Given the description of an element on the screen output the (x, y) to click on. 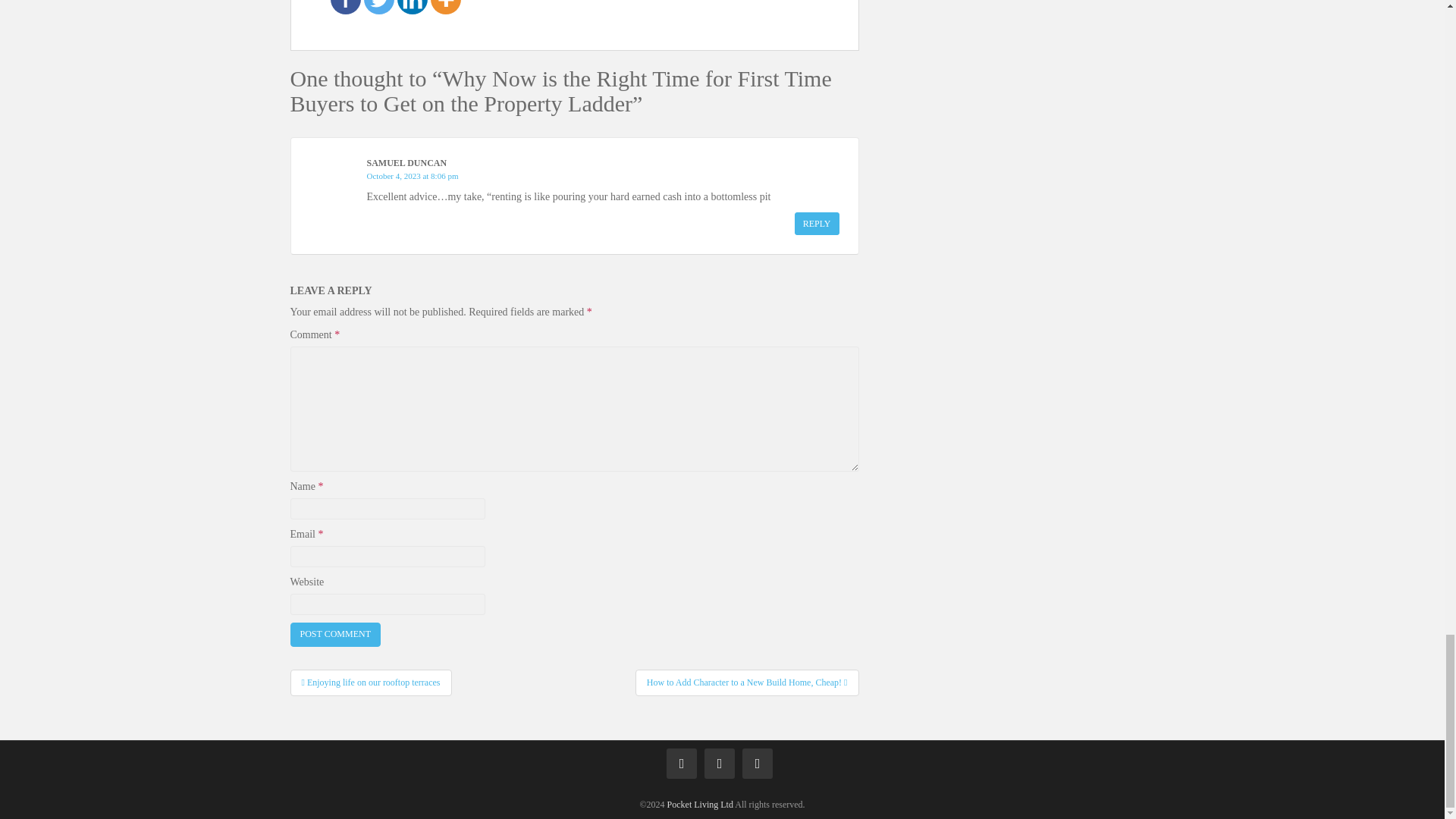
Post Comment (334, 634)
Twitter (379, 7)
Post Comment (334, 634)
REPLY (817, 223)
Pocket (699, 804)
October 4, 2023 at 8:06 pm (412, 175)
Enjoying life on our rooftop terraces (370, 682)
How to Add Character to a New Build Home, Cheap! (746, 682)
Linkedin (412, 7)
Facebook (345, 7)
More (445, 7)
